Given the description of an element on the screen output the (x, y) to click on. 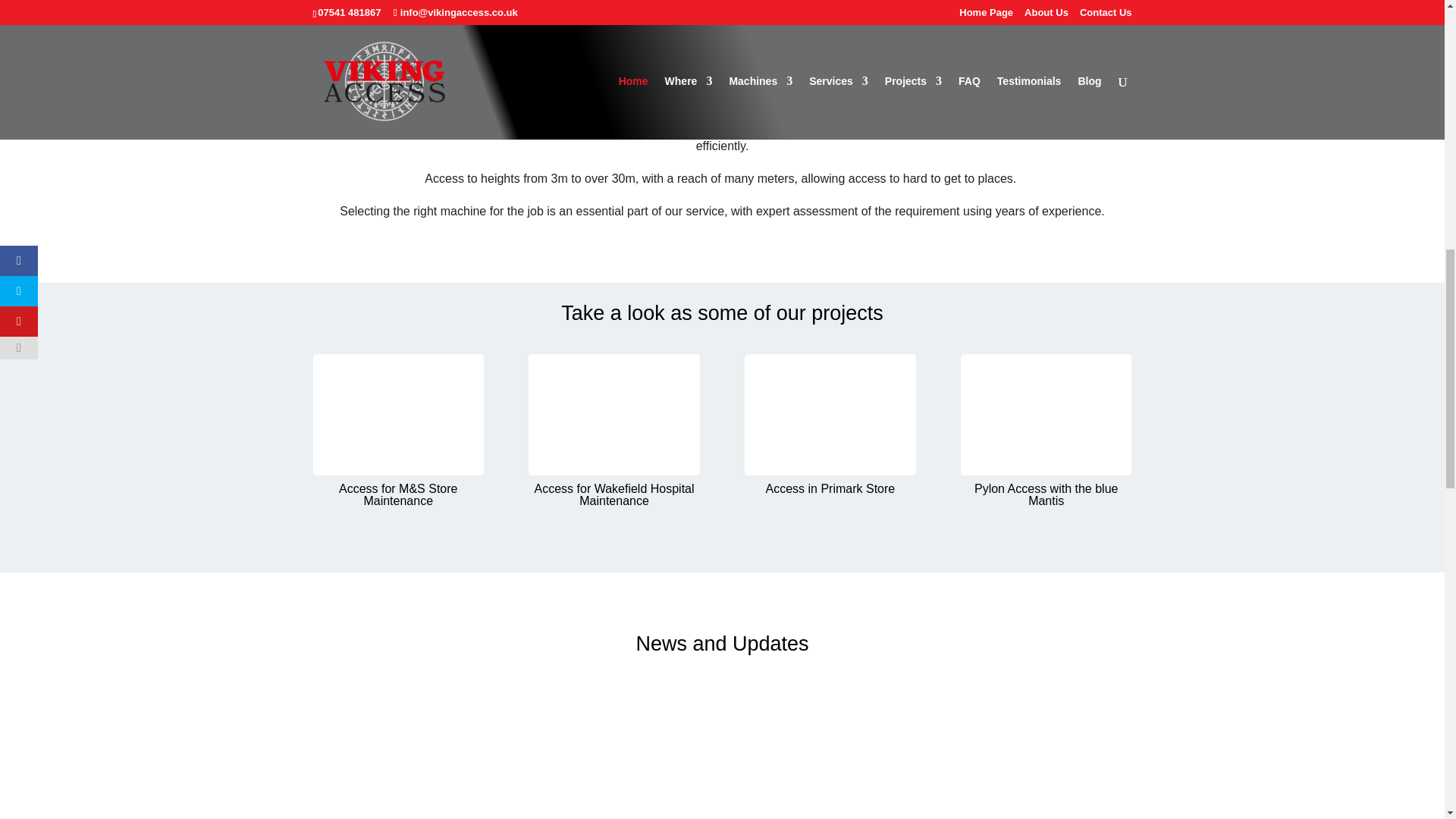
Pylon Access with the blue Mantis (1046, 494)
Access in Primark Store (830, 488)
Pylon Access with the blue Mantis (1045, 414)
Access for Wakefield Hospital Maintenance (614, 494)
Access for Wakefield Hospital Maintenance (613, 414)
Access in Primark Store (829, 414)
